Given the description of an element on the screen output the (x, y) to click on. 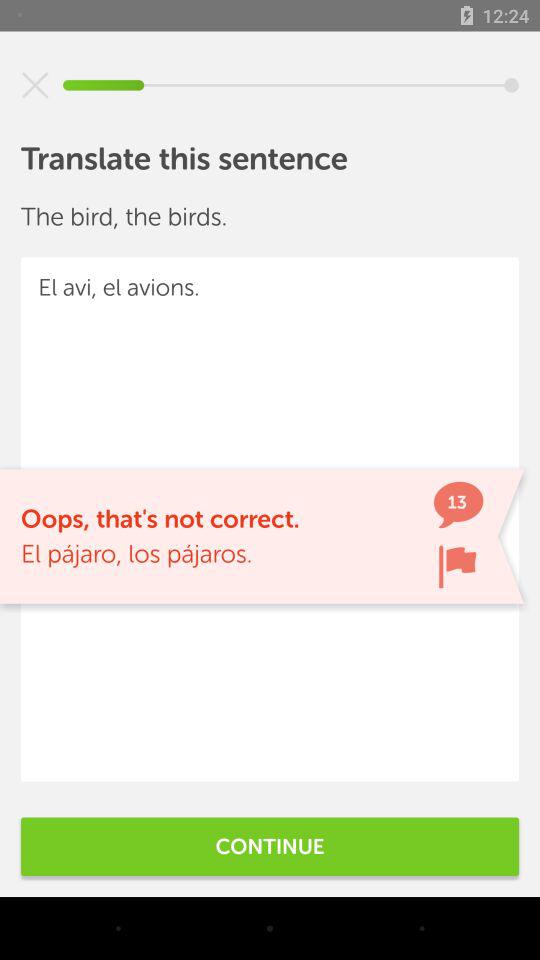
cancel an action (35, 85)
